Given the description of an element on the screen output the (x, y) to click on. 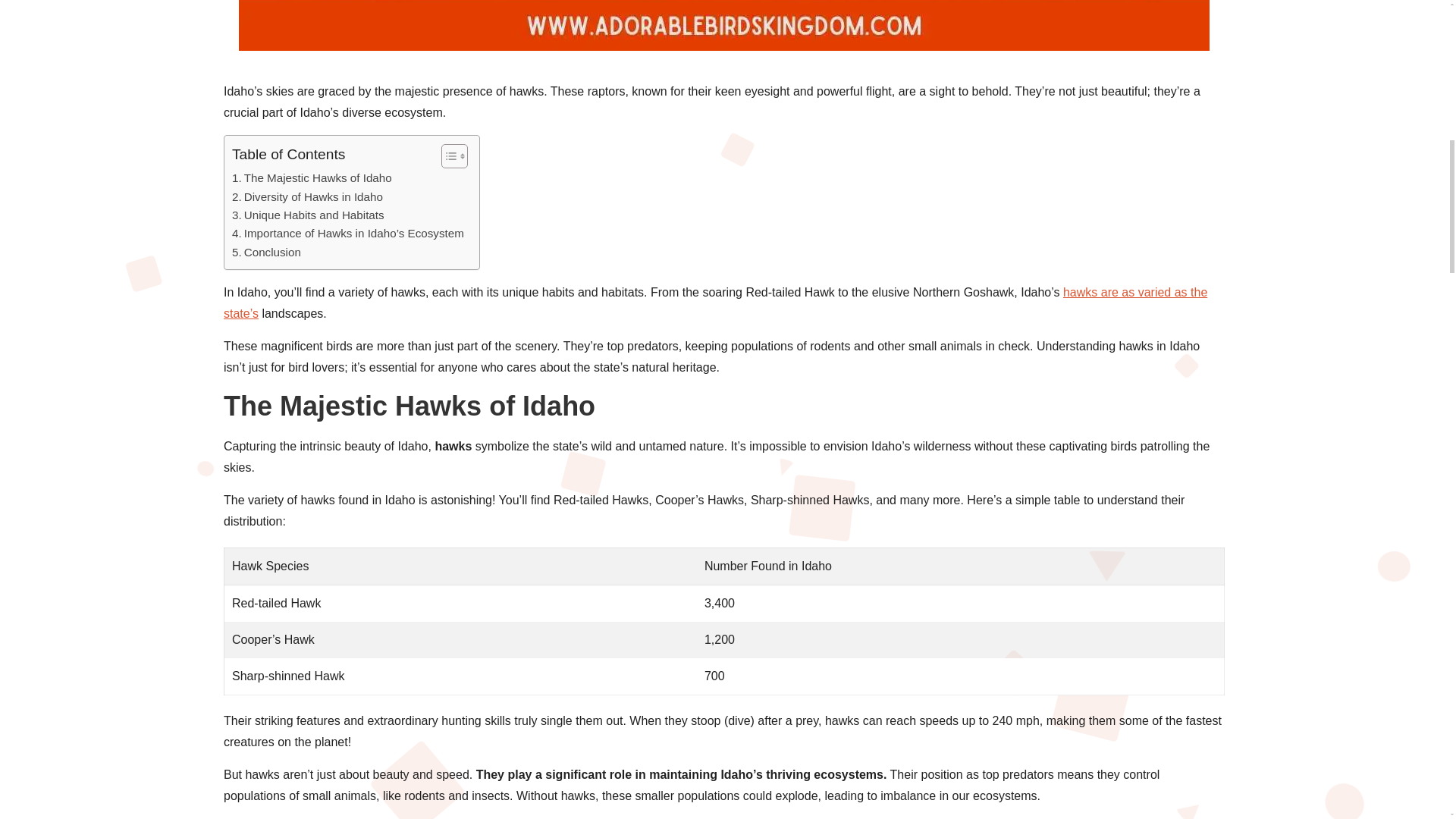
Diversity of Hawks in Idaho (306, 197)
Unique Habits and Habitats (307, 215)
Unique Habits and Habitats (307, 215)
The Majestic Hawks of Idaho (311, 177)
Conclusion (266, 252)
The Majestic Hawks of Idaho (311, 177)
Conclusion (266, 252)
Diversity of Hawks in Idaho (306, 197)
